Given the description of an element on the screen output the (x, y) to click on. 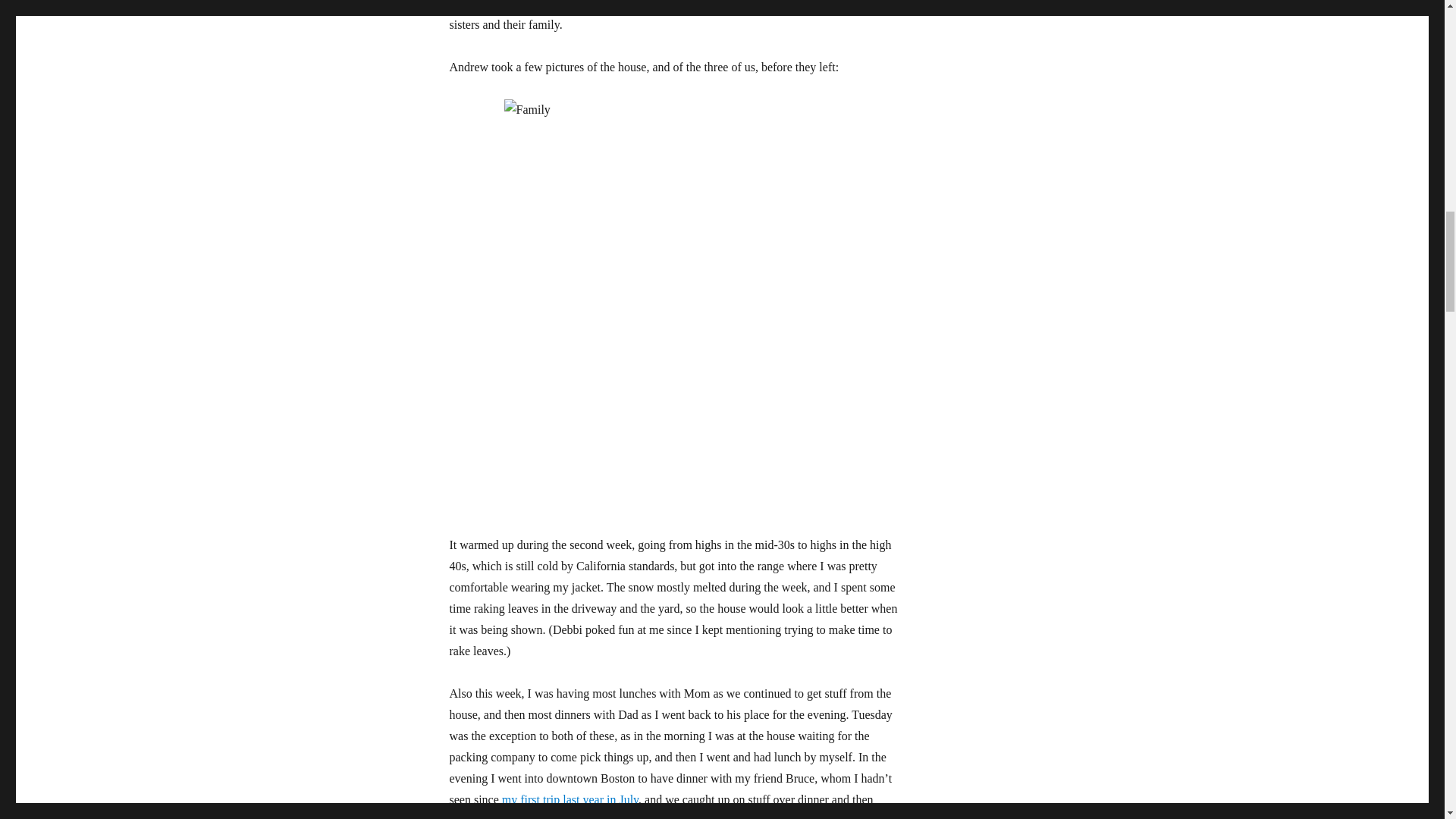
my first trip last year in July (570, 799)
